Given the description of an element on the screen output the (x, y) to click on. 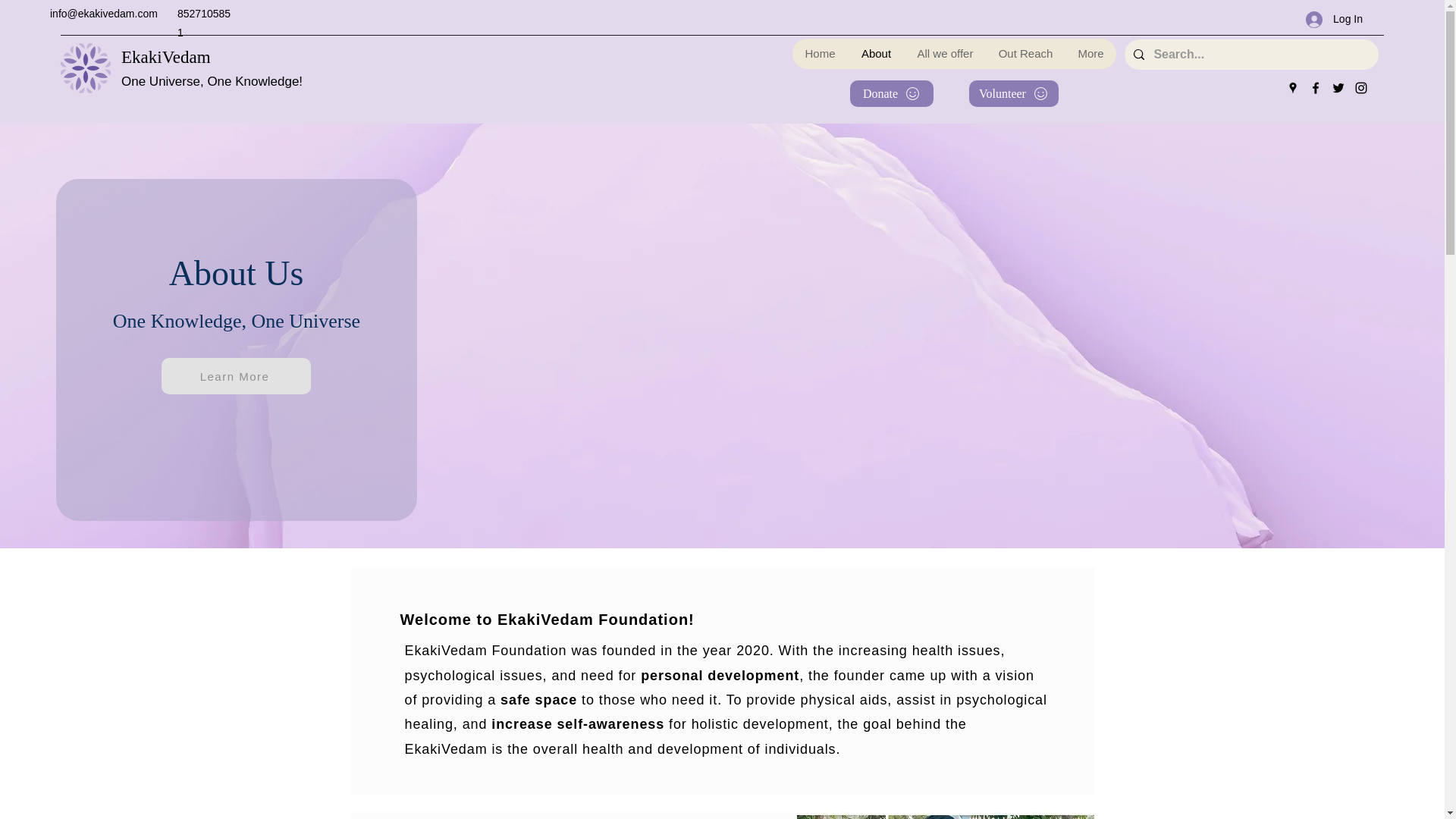
All we offer (944, 53)
Volunteer (1013, 93)
Home (819, 53)
EkakiVedam (165, 56)
Out Reach (1024, 53)
Donate (891, 93)
About (875, 53)
Log In (1334, 18)
